Given the description of an element on the screen output the (x, y) to click on. 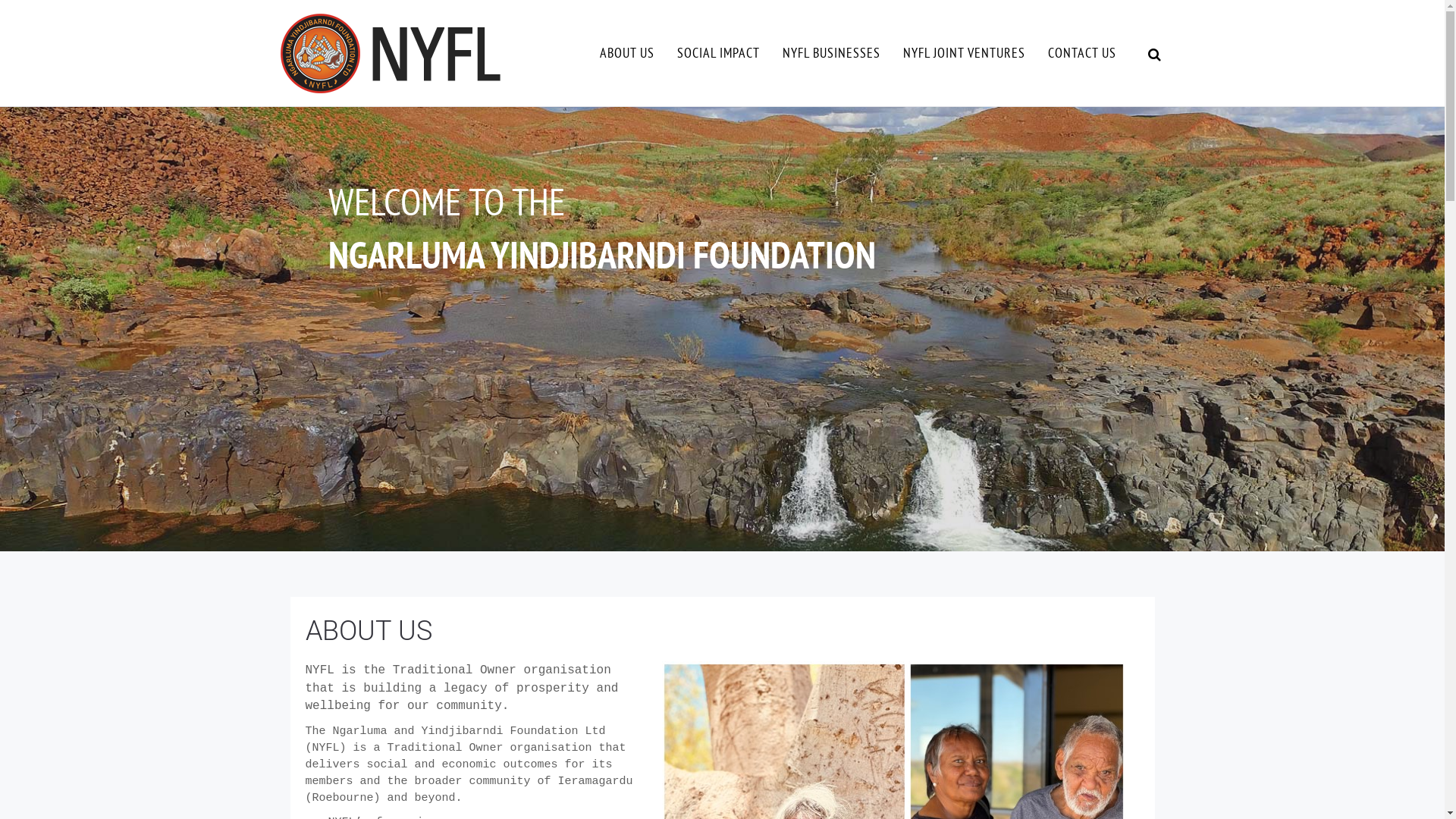
CONTACT US Element type: text (1080, 53)
SOCIAL IMPACT Element type: text (718, 53)
NYFL BUSINESSES Element type: text (830, 53)
ABOUT US Element type: text (626, 53)
NYFL JOINT VENTURES Element type: text (963, 53)
